Given the description of an element on the screen output the (x, y) to click on. 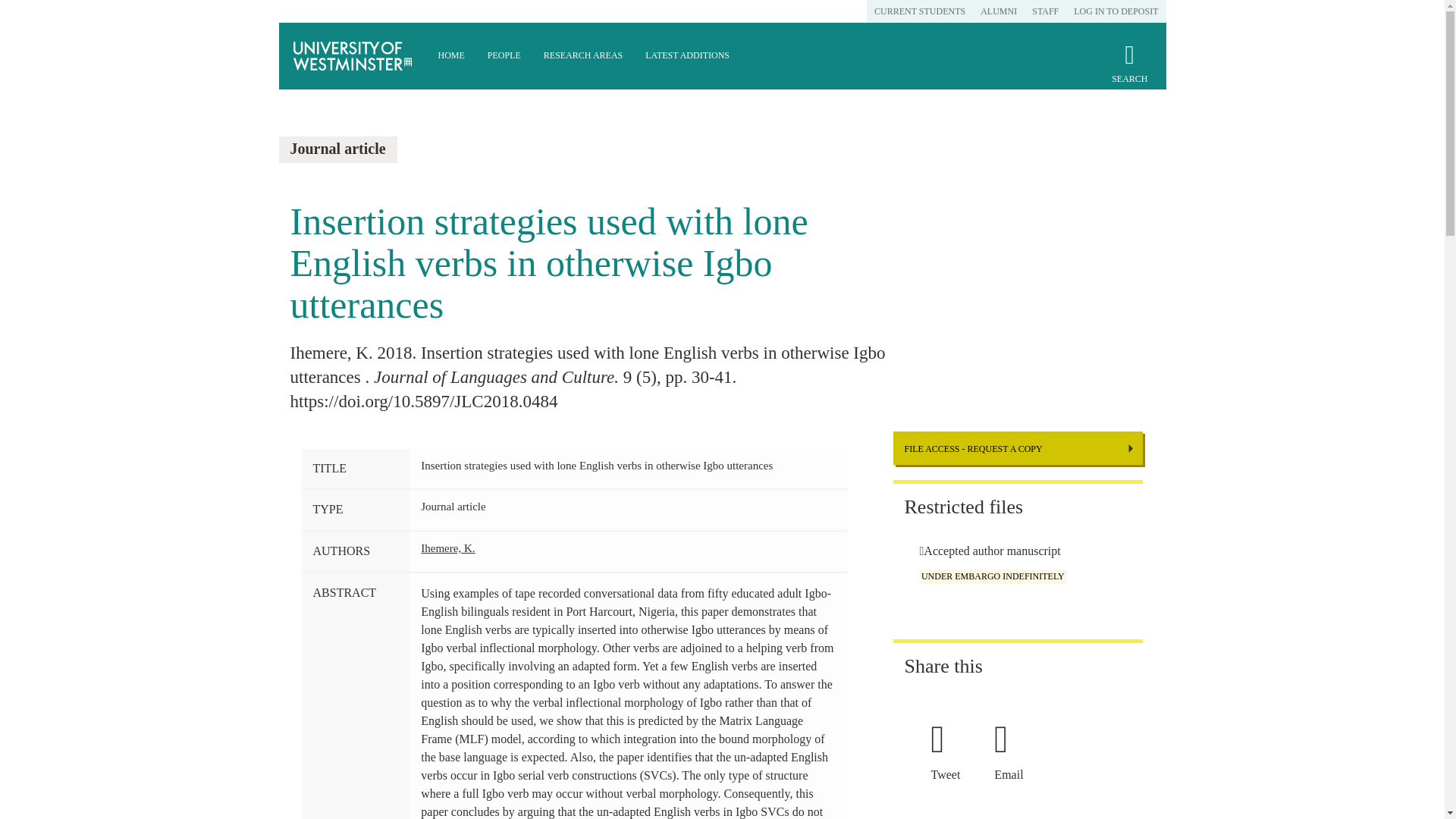
ALUMNI (998, 11)
RESEARCH AREAS (582, 55)
LATEST ADDITIONS (687, 55)
LOG IN TO DEPOSIT (1115, 11)
Tweet (950, 774)
SEARCH (1129, 69)
Ihemere, K. (447, 548)
Email (1013, 774)
University of Westminster (352, 55)
STAFF (1045, 11)
